Given the description of an element on the screen output the (x, y) to click on. 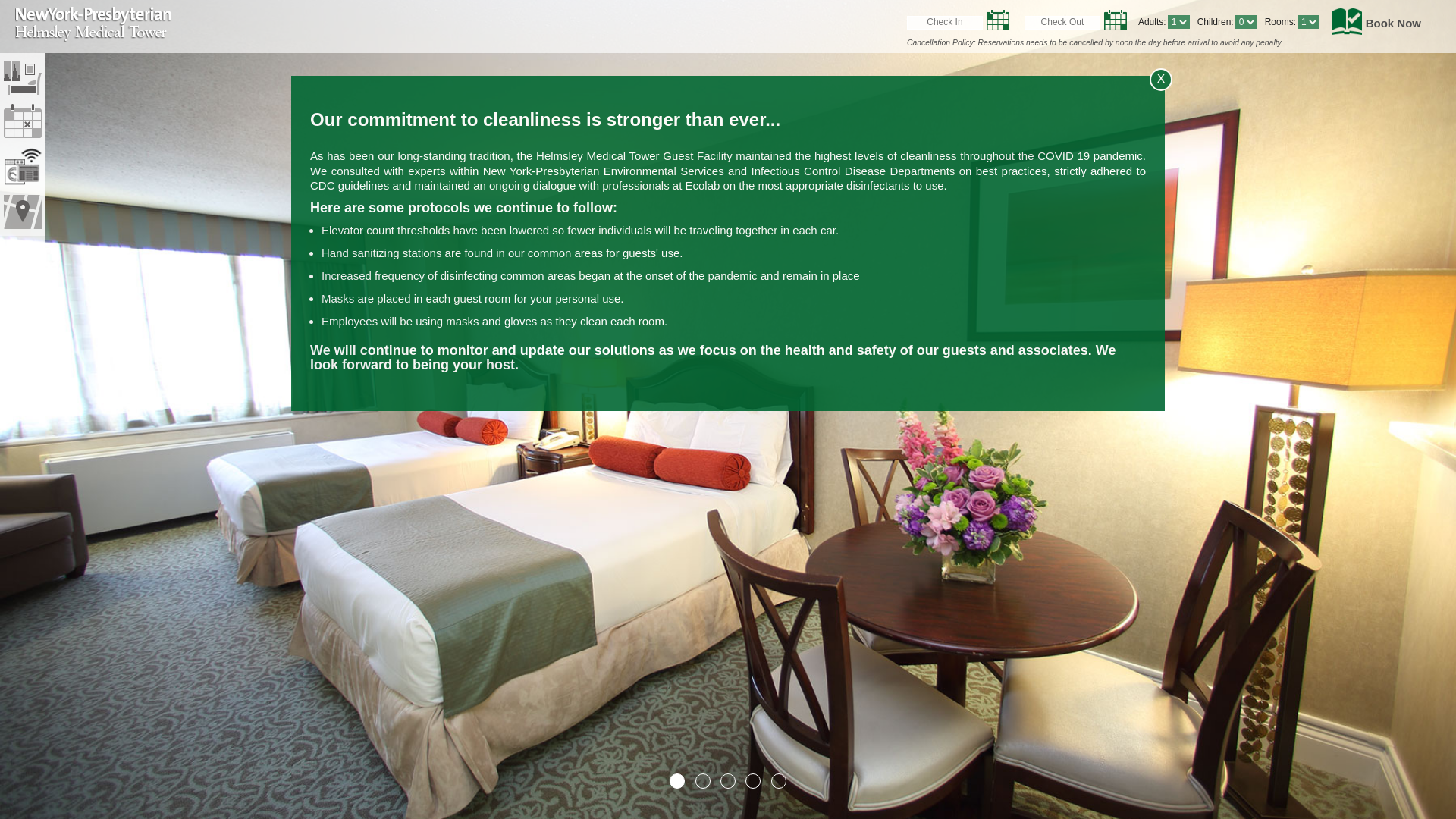
... (998, 19)
... (1114, 19)
